Given the description of an element on the screen output the (x, y) to click on. 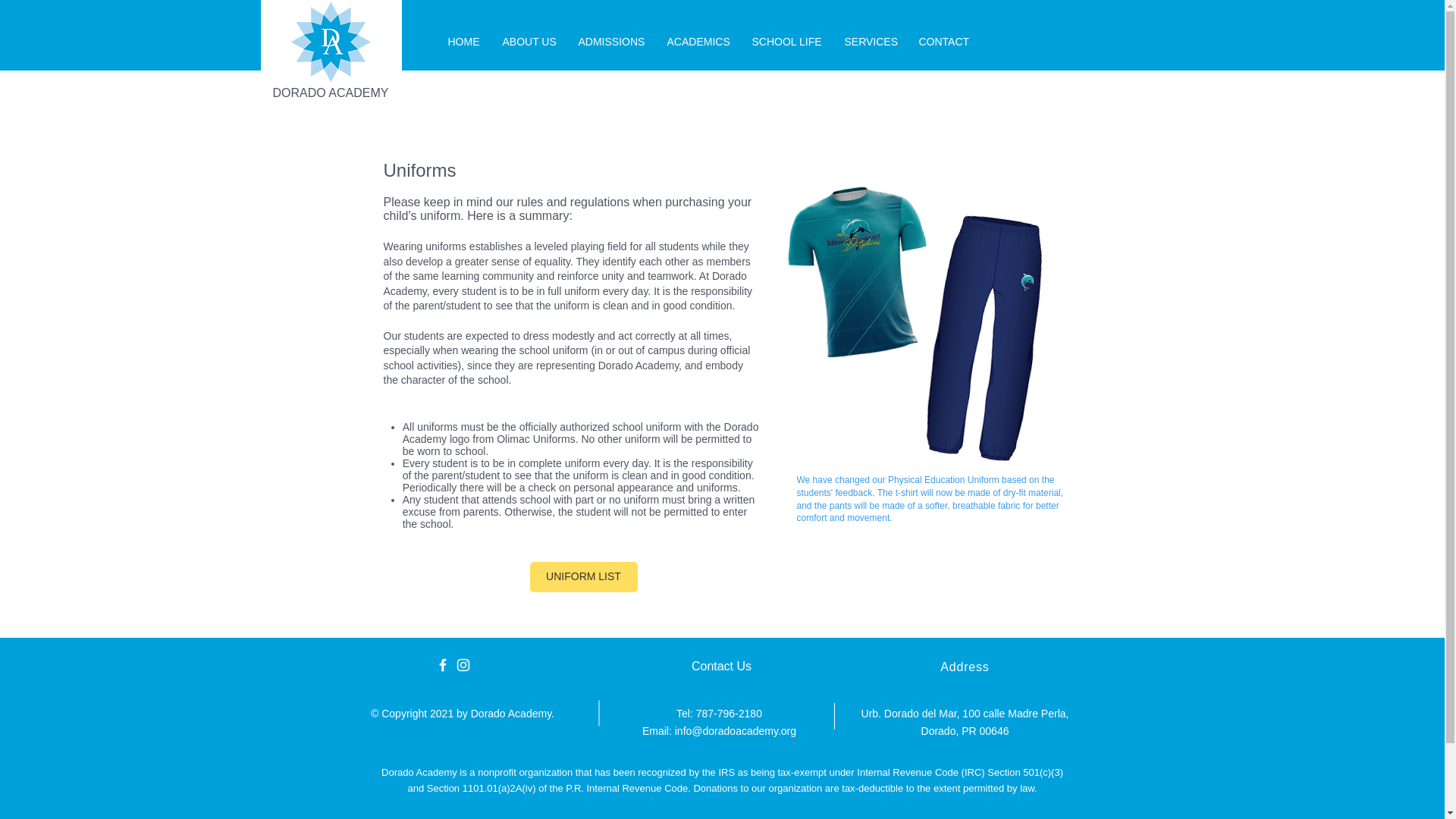
ADMISSIONS (611, 41)
SERVICES (869, 41)
CONTACT (942, 41)
ABOUT US (529, 41)
UNIFORM LIST (583, 576)
DORADO  (301, 92)
HOME (464, 41)
ACADEMICS (697, 41)
SCHOOL LIFE (785, 41)
